Given the description of an element on the screen output the (x, y) to click on. 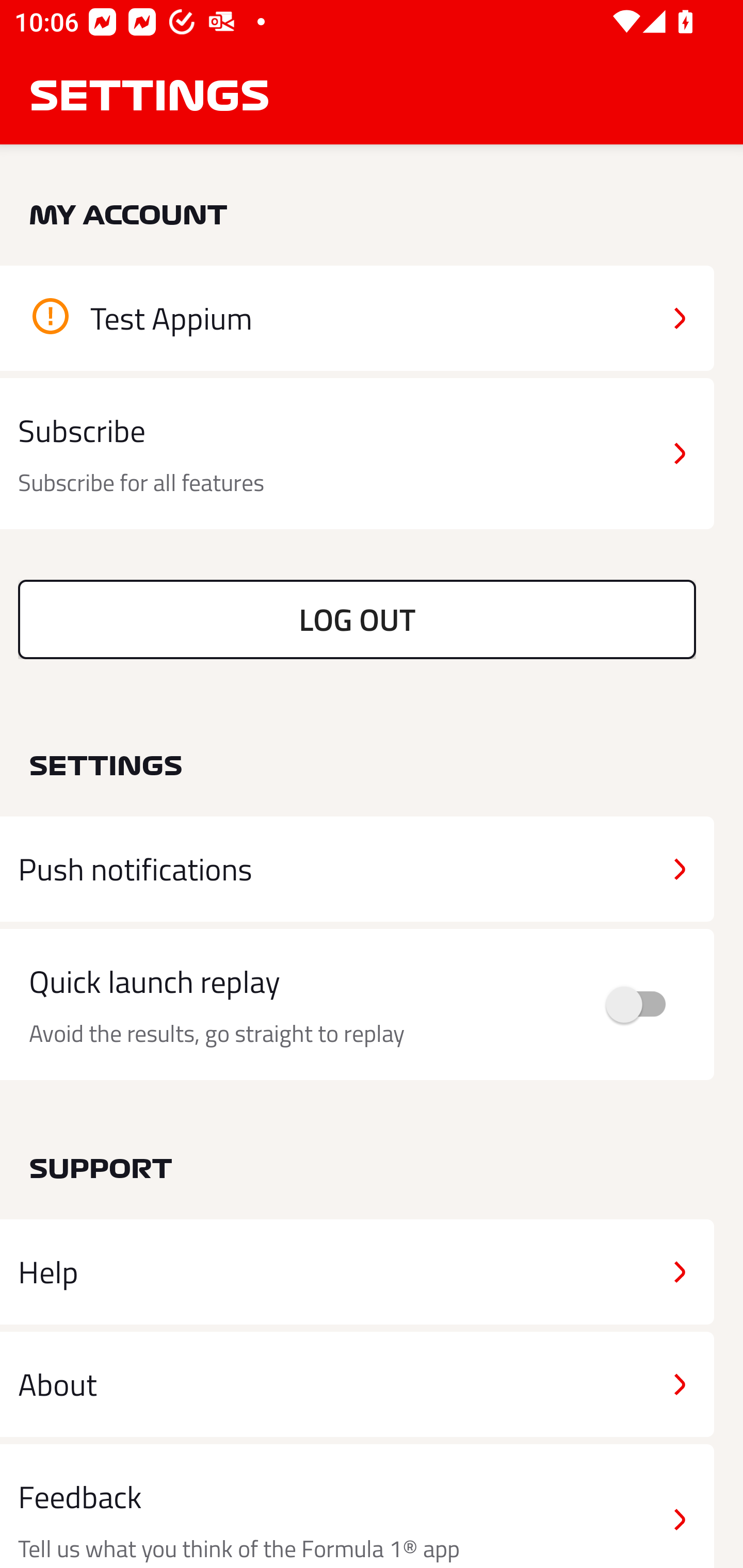
Test Appium (357, 317)
Subscribe Subscribe for all features (357, 453)
LOG OUT (356, 619)
Push notifications (357, 868)
Help (357, 1271)
About (357, 1383)
